Given the description of an element on the screen output the (x, y) to click on. 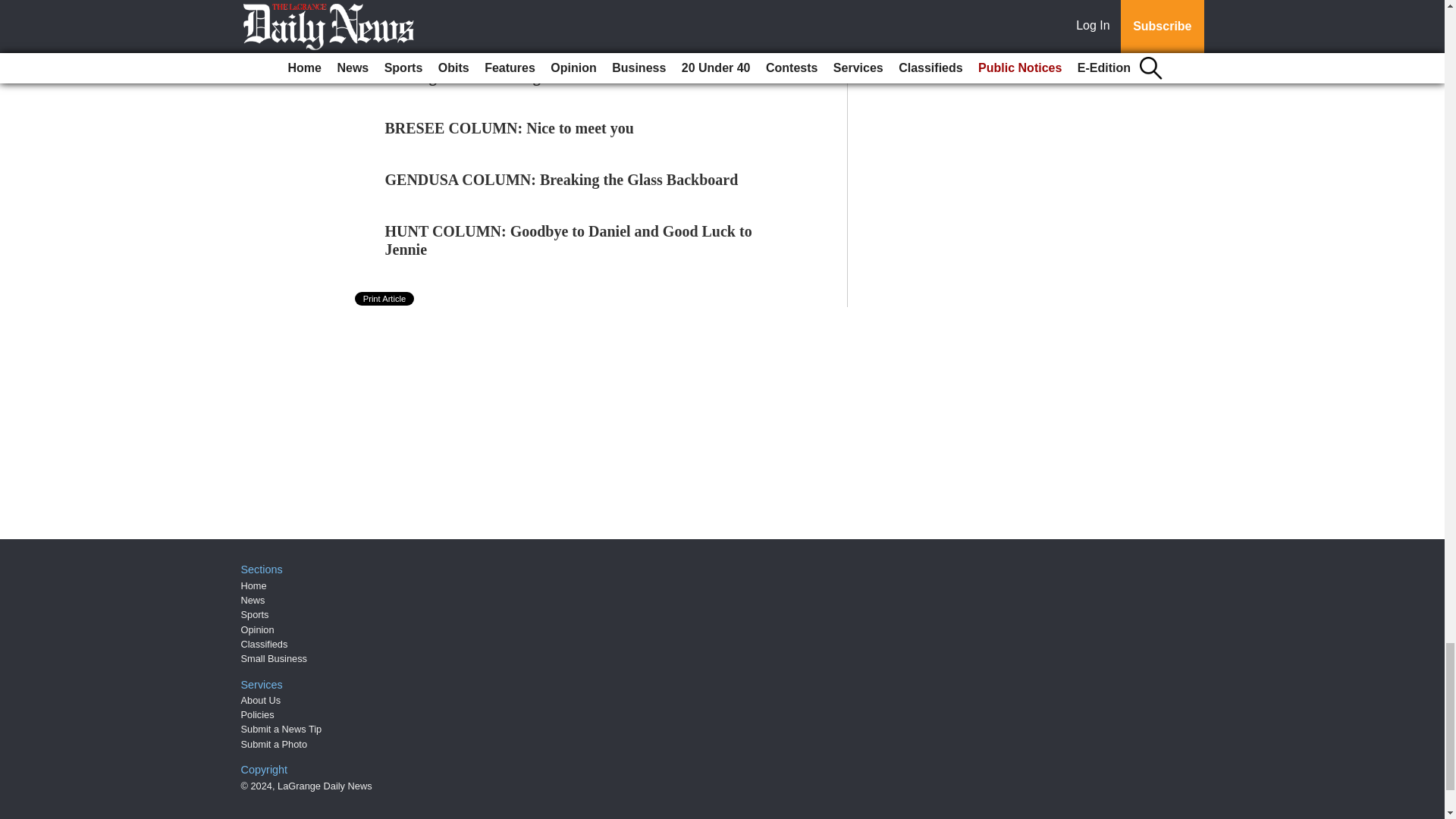
HUNT COLUMN: Goodbye to Daniel and Good Luck to Jennie (568, 239)
GENDUSA COLUMN: Breaking the Glass Backboard (561, 179)
Opinion (258, 629)
The Right Use of Strength (469, 76)
The Right Use of Strength (469, 76)
BRESEE COLUMN: Nice to meet you (509, 127)
HUNT COLUMN: Goodbye to Daniel and Good Luck to Jennie (568, 239)
Home (253, 585)
News (252, 600)
GENDUSA COLUMN: Breaking the Glass Backboard (561, 179)
Sports (255, 614)
Print Article (384, 298)
BRESEE COLUMN: Nice to meet you (509, 127)
Classifieds (264, 644)
